Given the description of an element on the screen output the (x, y) to click on. 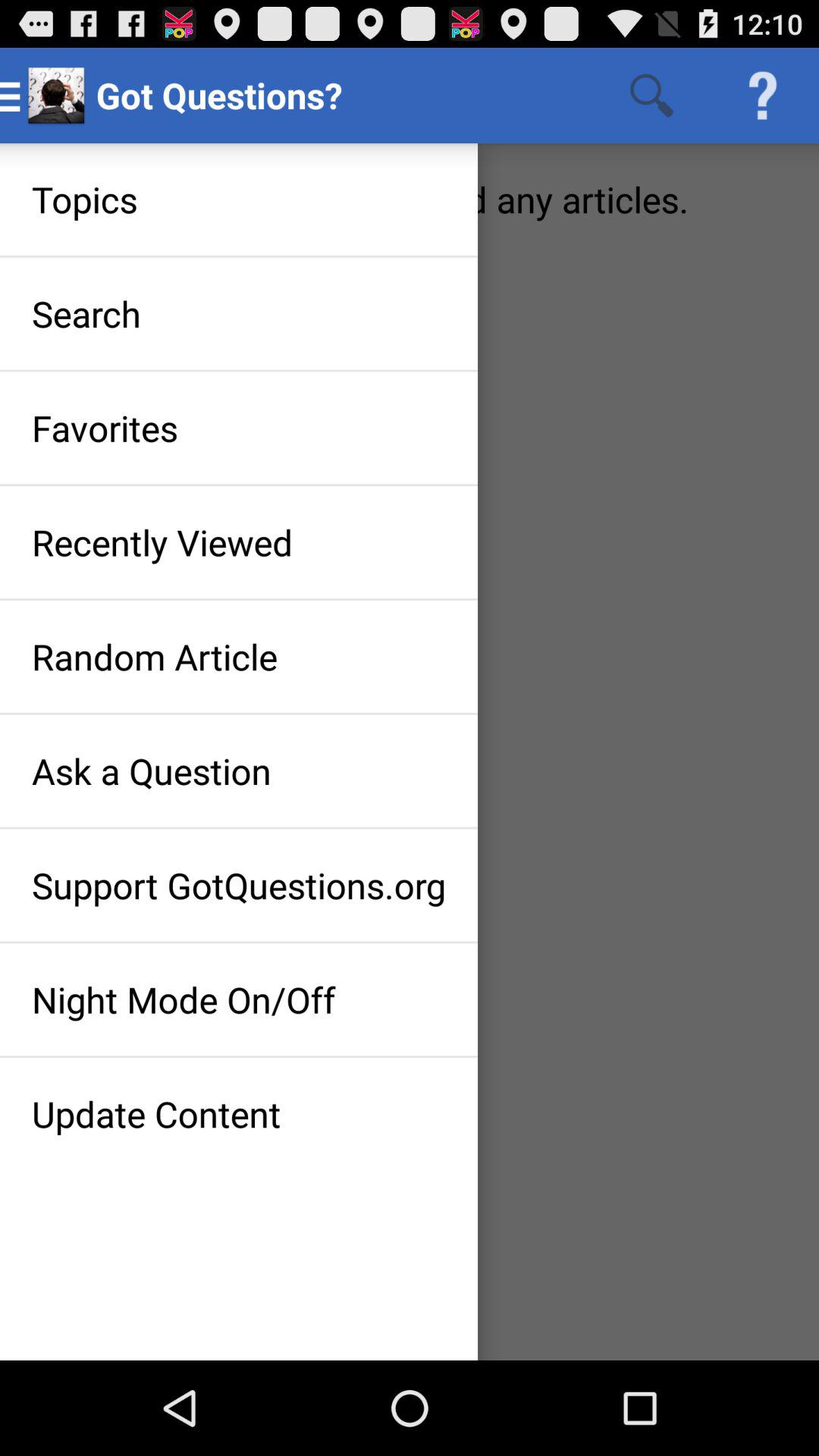
click on the icon right to the text got questions (651, 95)
